Given the description of an element on the screen output the (x, y) to click on. 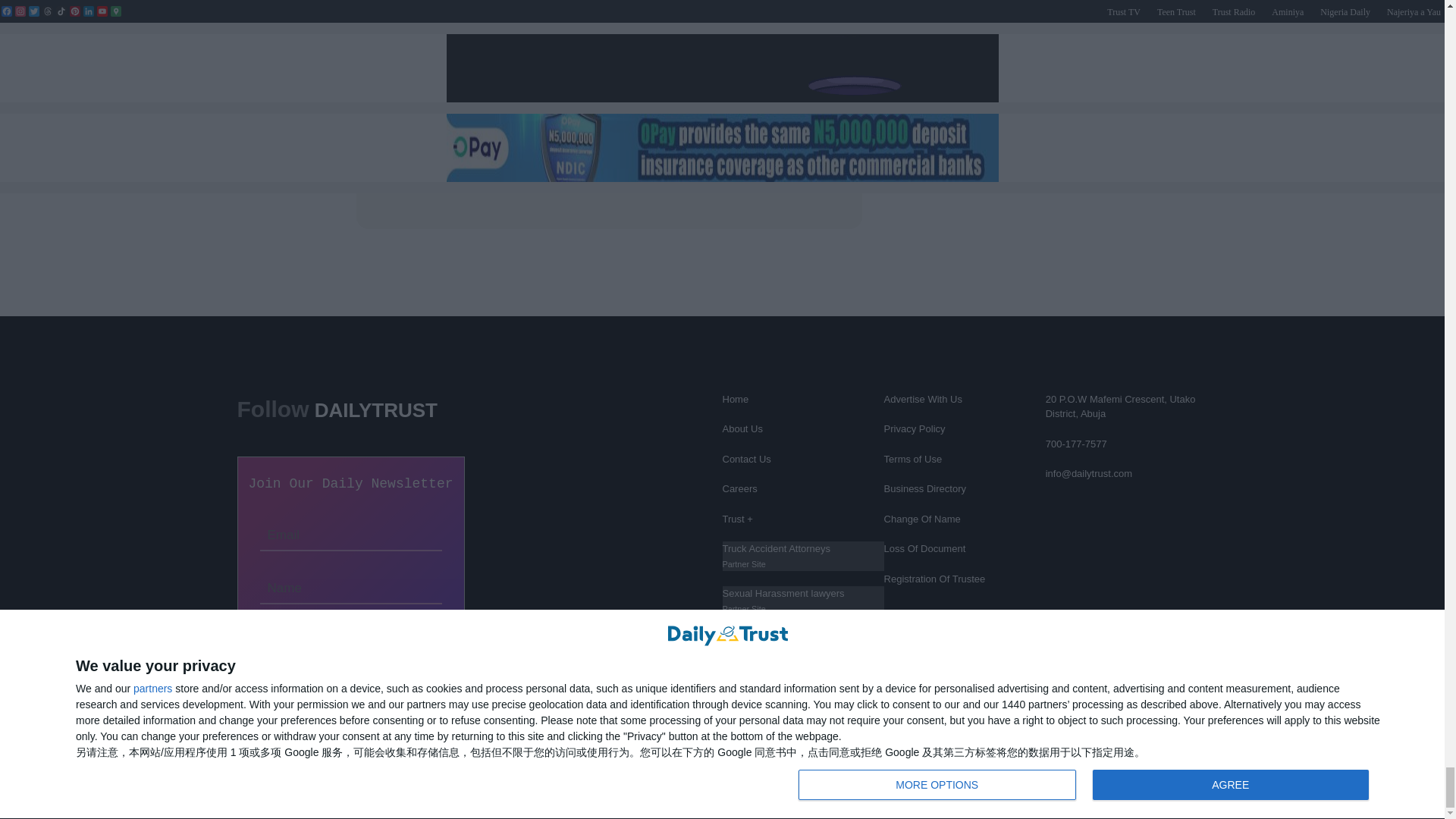
Join Now (350, 634)
